Given the description of an element on the screen output the (x, y) to click on. 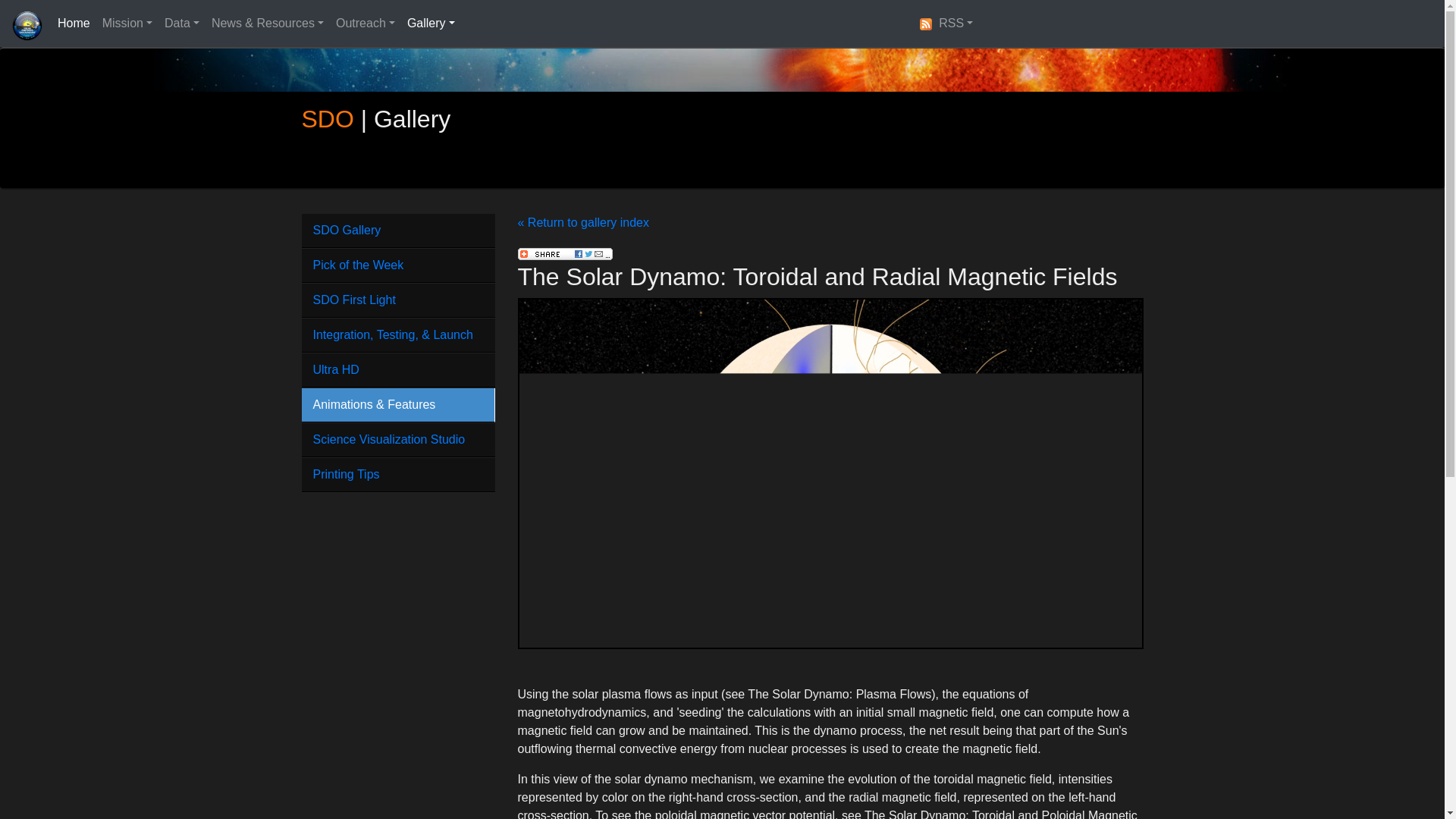
Mission (127, 23)
Outreach (365, 23)
Data (181, 23)
